Given the description of an element on the screen output the (x, y) to click on. 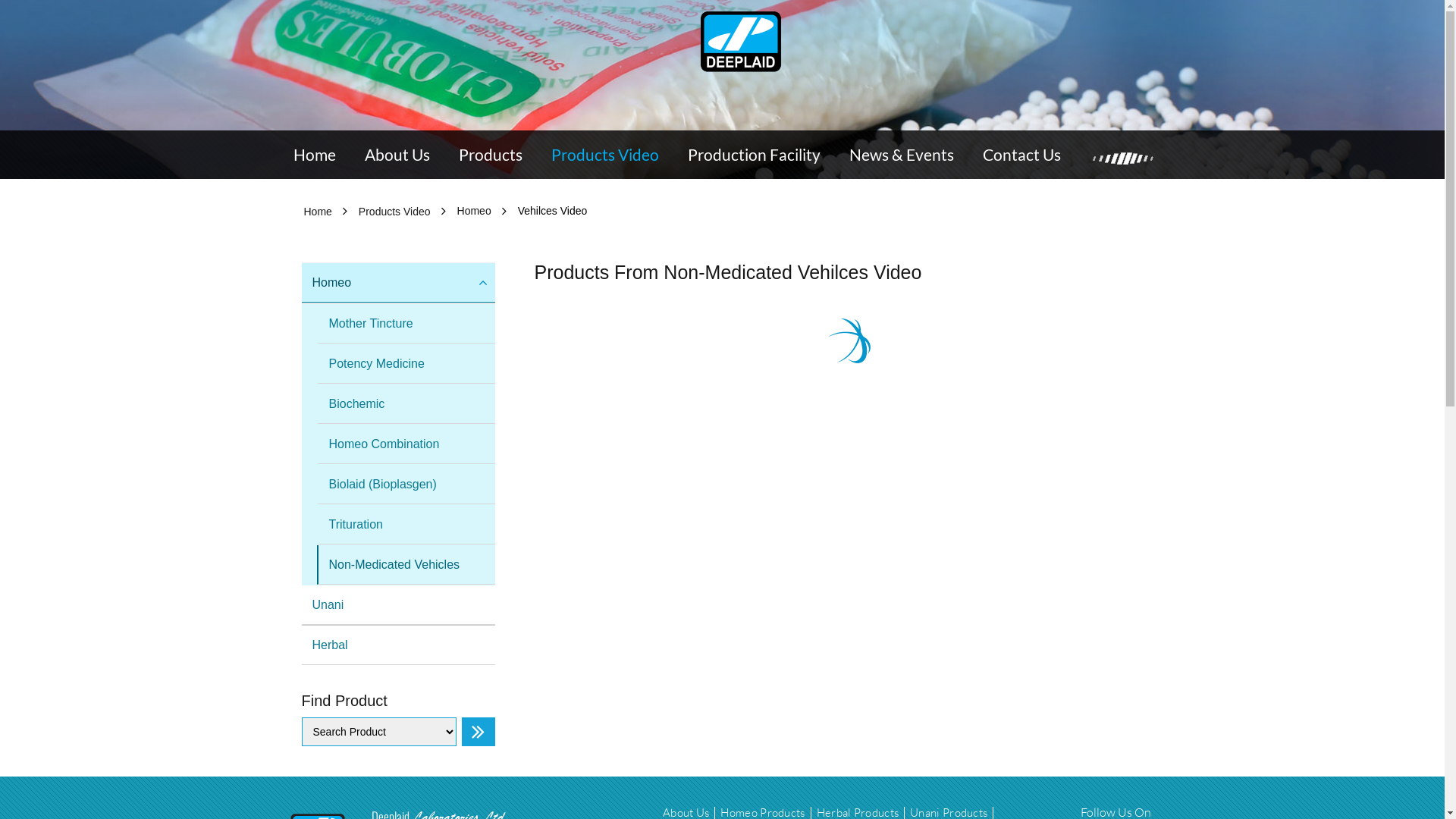
Products Video Element type: text (603, 154)
Products Element type: text (489, 154)
News & Events Element type: text (901, 154)
Contact Us Element type: text (1021, 154)
Trituration Element type: text (405, 524)
  Element type: text (740, 41)
Potency Medicine Element type: text (405, 363)
Home Element type: text (313, 154)
Non-Medicated Vehicles Element type: text (405, 564)
Homeo Element type: text (398, 282)
Biolaid (Bioplasgen) Element type: text (405, 484)
Products Video Element type: text (394, 211)
Unani Element type: text (398, 604)
Homeo Combination Element type: text (405, 444)
About Us Element type: text (396, 154)
Herbal Element type: text (398, 645)
Biochemic Element type: text (405, 403)
Mother Tincture Element type: text (405, 323)
Production Facility Element type: text (753, 154)
Home Element type: text (317, 211)
